Given the description of an element on the screen output the (x, y) to click on. 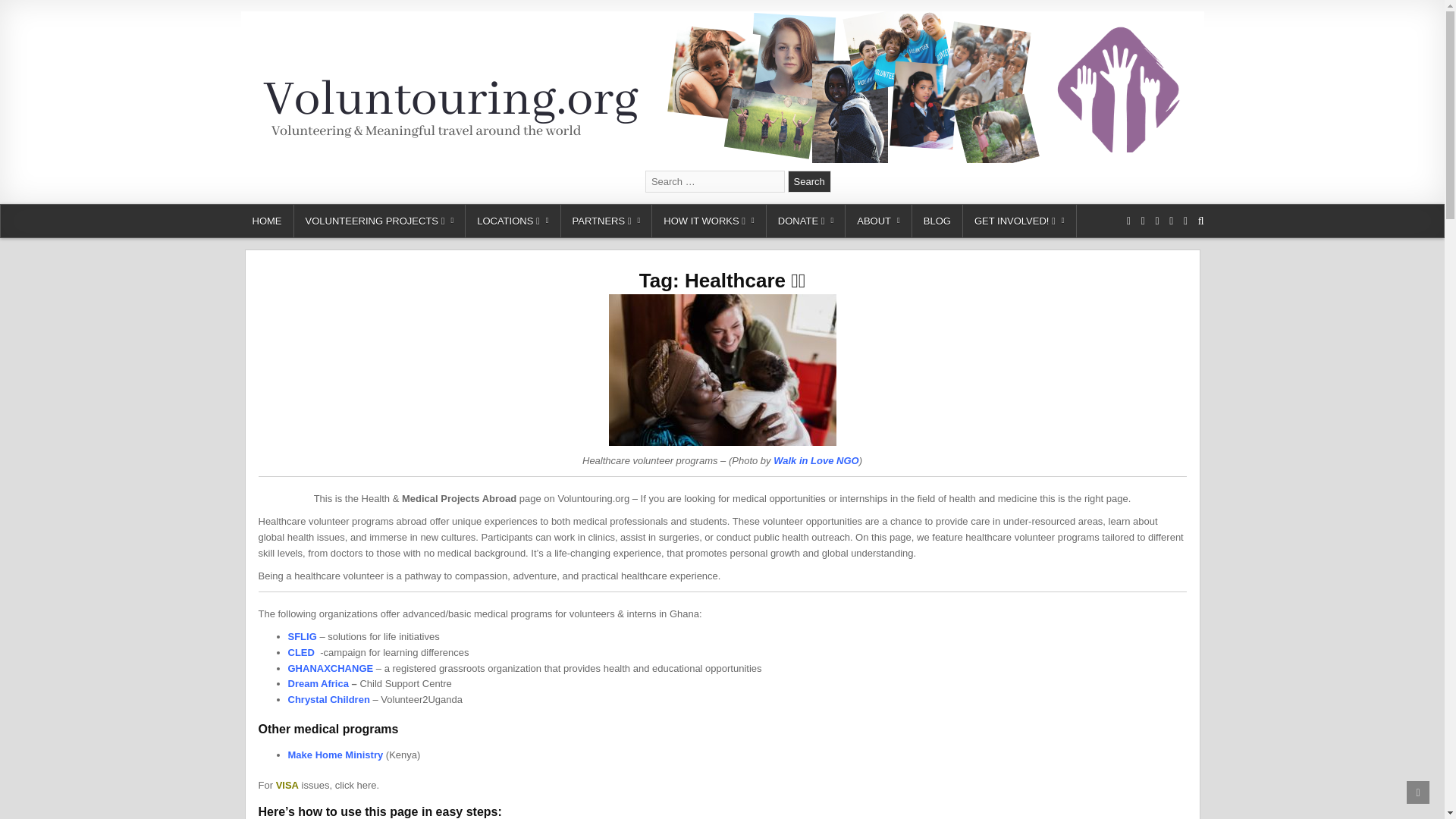
Search (809, 181)
Scroll to Top (1417, 792)
Search (809, 181)
HOME (267, 220)
Search (809, 181)
Voluntouring.org (314, 182)
